Given the description of an element on the screen output the (x, y) to click on. 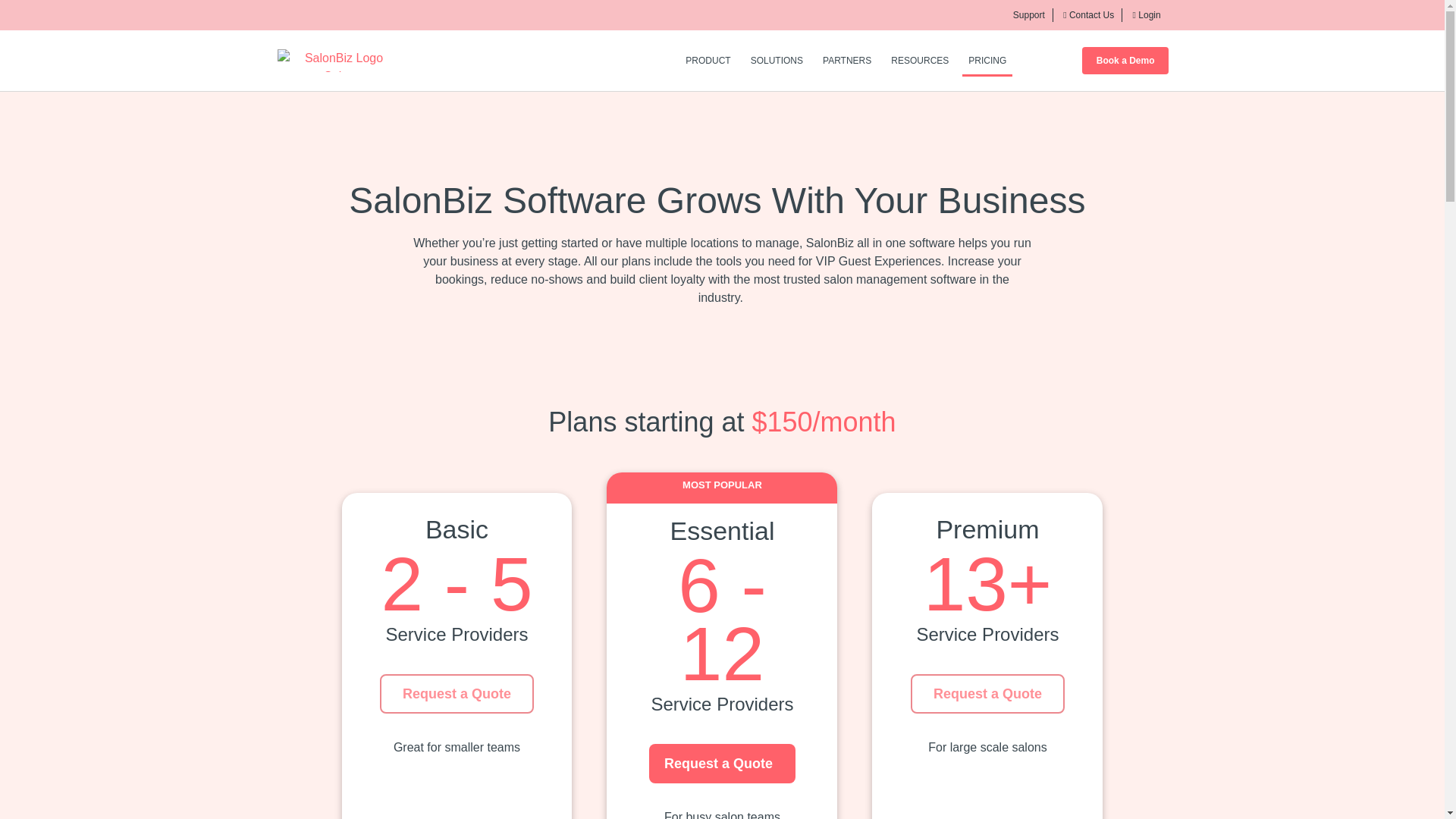
PRODUCT (707, 60)
Login (1146, 14)
PRICING (986, 60)
 Contact Us (1087, 14)
PARTNERS (846, 60)
RESOURCES (920, 60)
SalonBiz Logo Color (338, 60)
SOLUTIONS (776, 60)
Support (1026, 14)
